Given the description of an element on the screen output the (x, y) to click on. 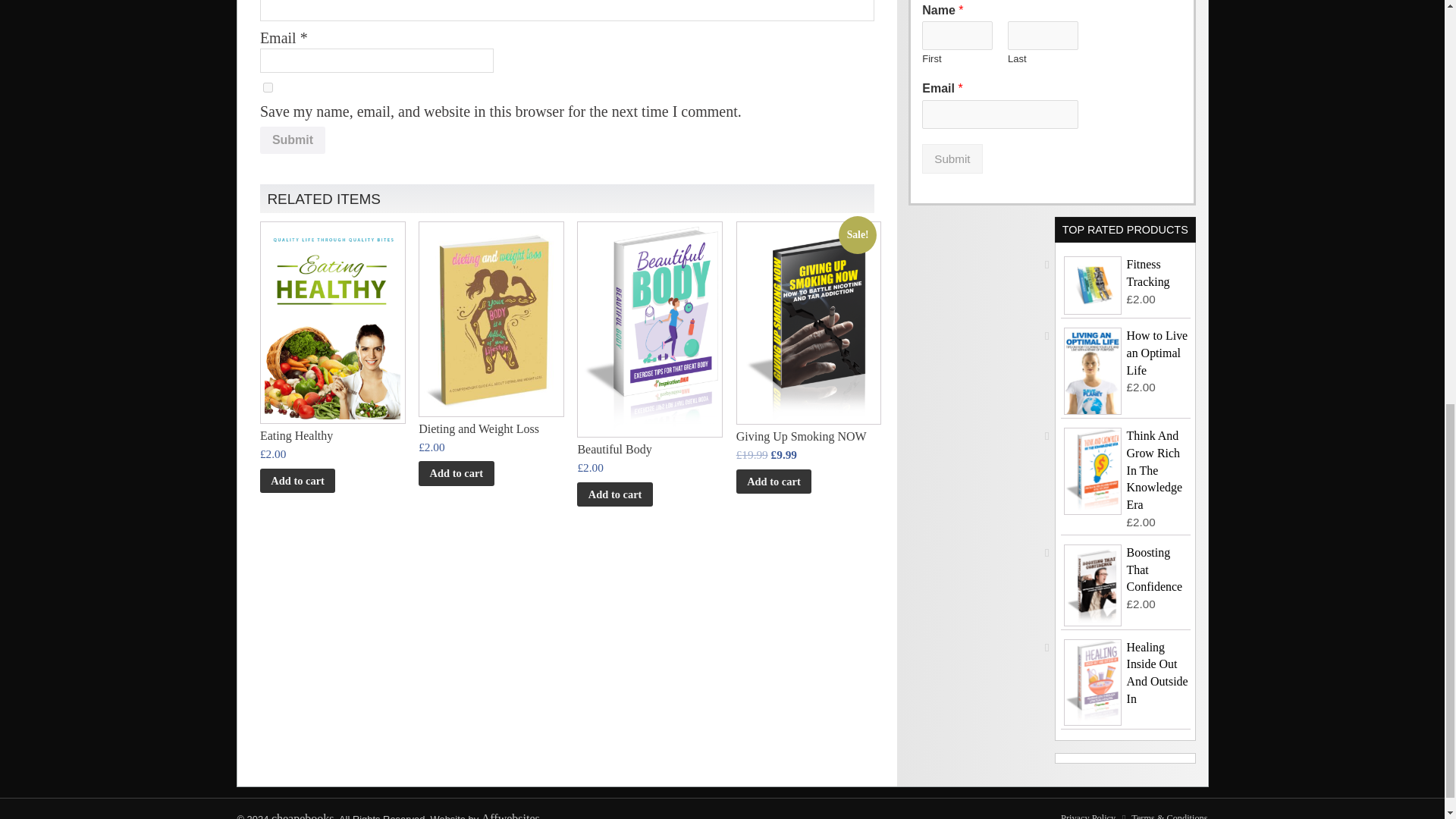
yes (268, 87)
Add to cart (297, 480)
Affwebsites (510, 815)
How to Live an Optimal Life (1126, 353)
Submit (292, 139)
Submit (951, 158)
Think And Grow Rich In The Knowledge Era (1126, 470)
Fitness Tracking (1126, 273)
Add to cart (456, 473)
Privacy Policy (1088, 816)
